Given the description of an element on the screen output the (x, y) to click on. 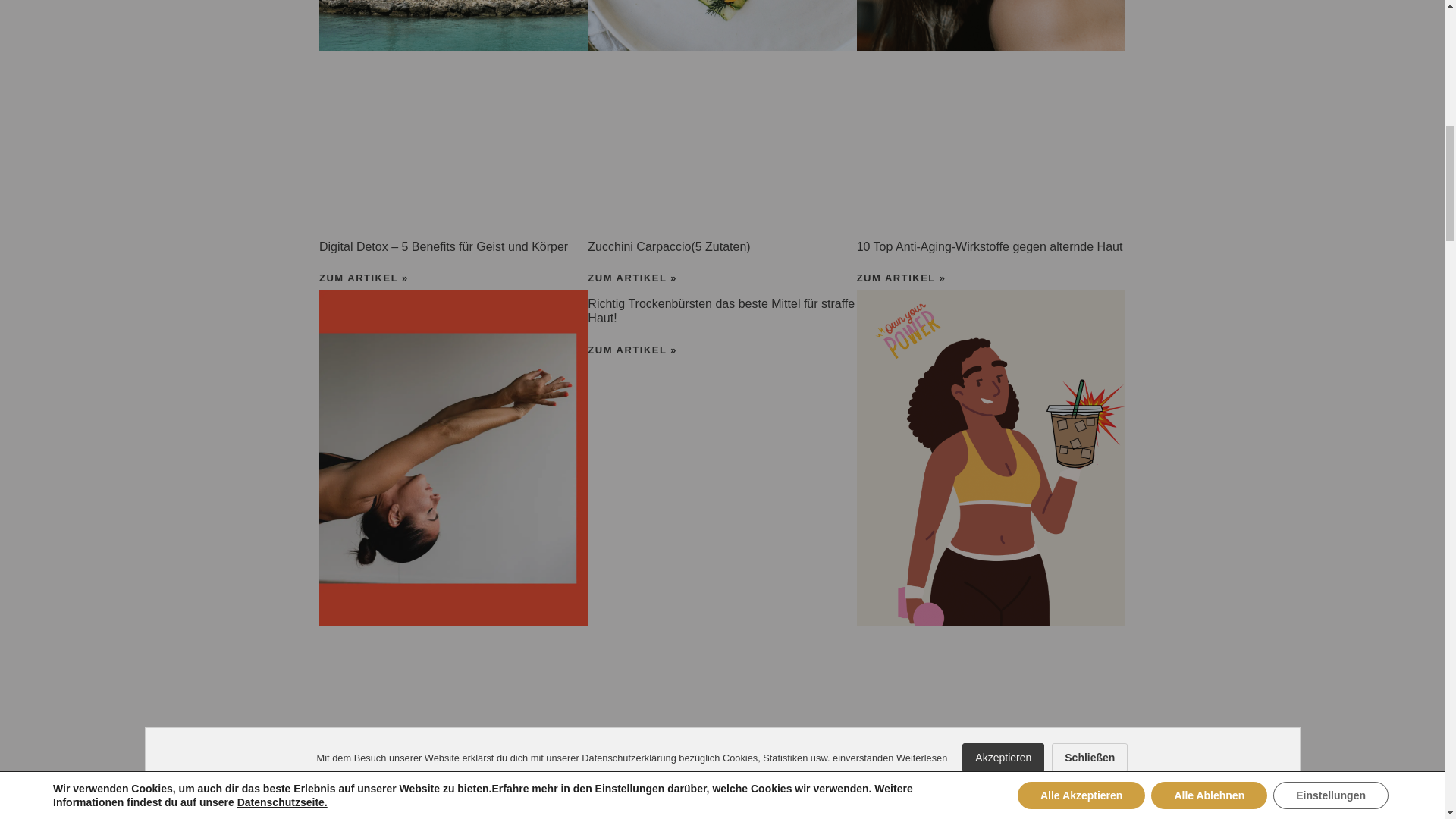
Kaffee vor dem Training trinken? Pro und Contra! (989, 817)
Wie Yogatherapie deine Mentale Gesundheit beeinflusst !  (438, 817)
10 Top Anti-Aging-Wirkstoffe gegen alternde Haut (989, 246)
